Given the description of an element on the screen output the (x, y) to click on. 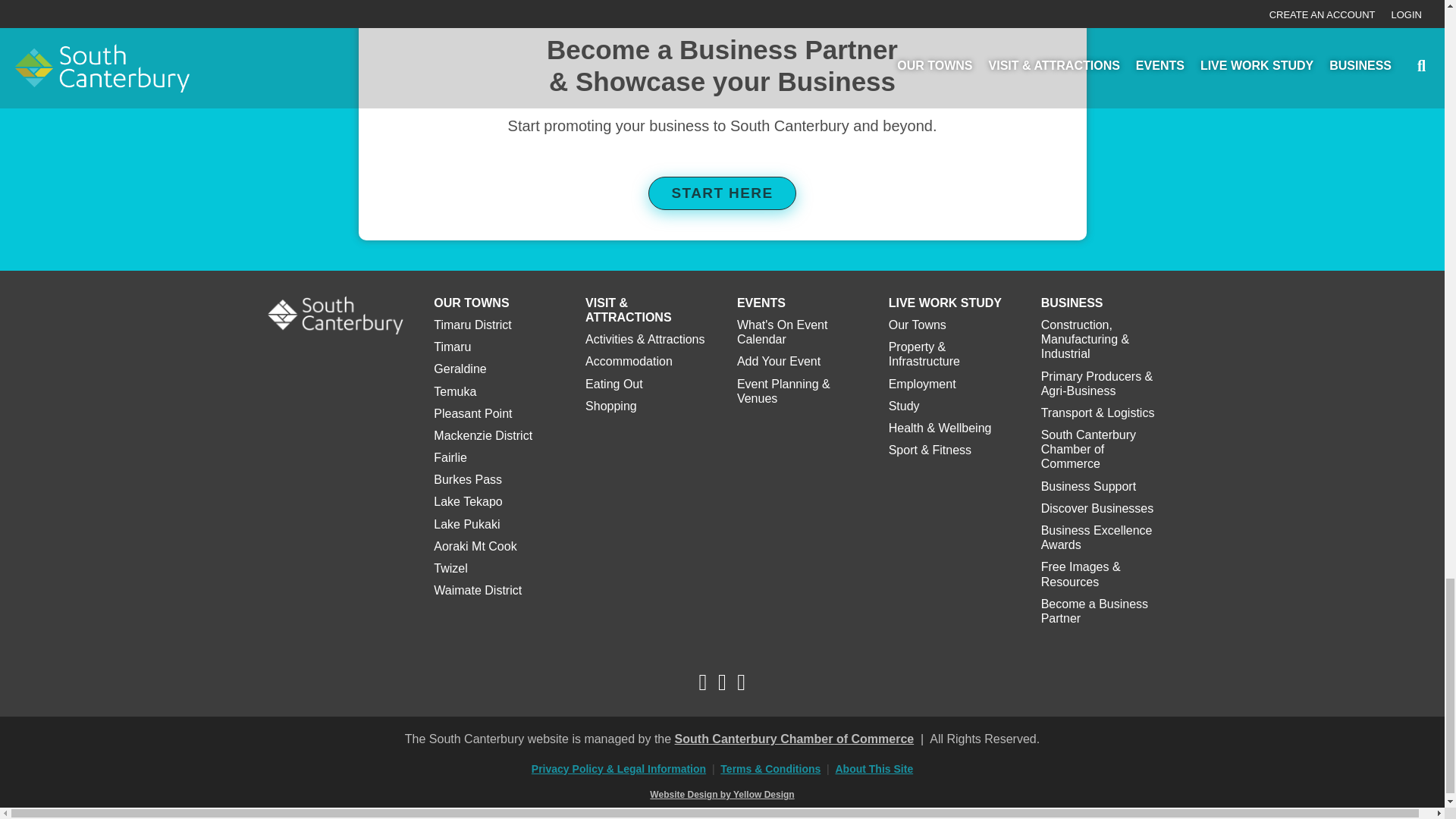
Footer-Business Partner (721, 9)
